Given the description of an element on the screen output the (x, y) to click on. 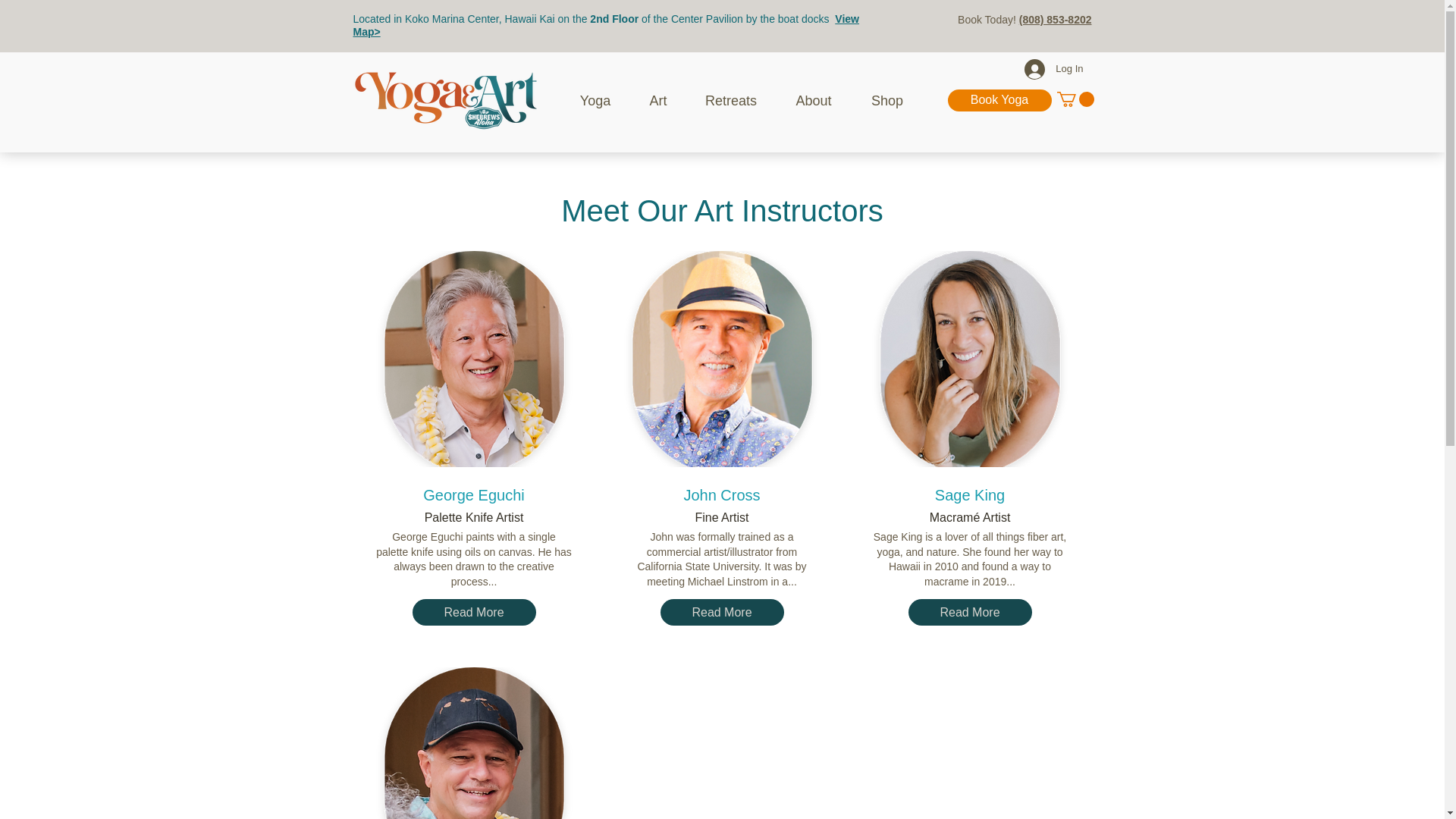
Shop (887, 100)
Log In (1053, 69)
Read More (473, 611)
Read More (970, 611)
Sage King.png (969, 358)
Book Yoga (999, 100)
Read More (721, 611)
Yoga (595, 100)
George Eguchi.png (473, 358)
Art (656, 100)
About (812, 100)
Retreats (731, 100)
Patrick Ching.png (473, 743)
